Given the description of an element on the screen output the (x, y) to click on. 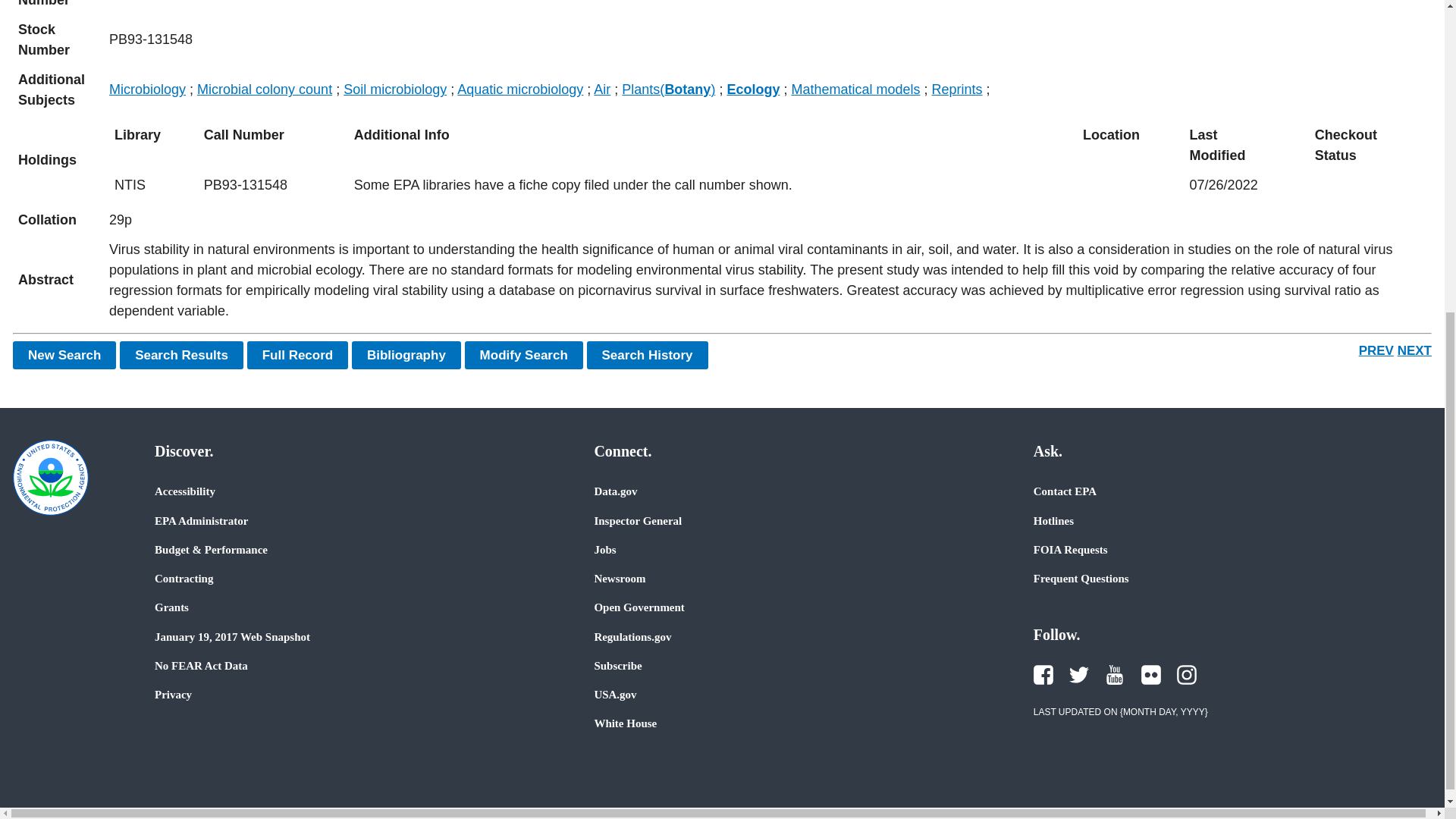
Search Results (181, 355)
Full Record (298, 355)
Grants (171, 607)
Data.gov (615, 490)
EPA Administrator (200, 520)
Microbiology (147, 89)
Mathematical models (855, 89)
full length text available by clicking full record (767, 280)
Bibliography (406, 355)
January 19, 2017 Web Snapshot (232, 636)
Contracting (183, 578)
Accessibility (184, 490)
Reprints (956, 89)
Inspector General (637, 520)
Jobs (604, 549)
